Given the description of an element on the screen output the (x, y) to click on. 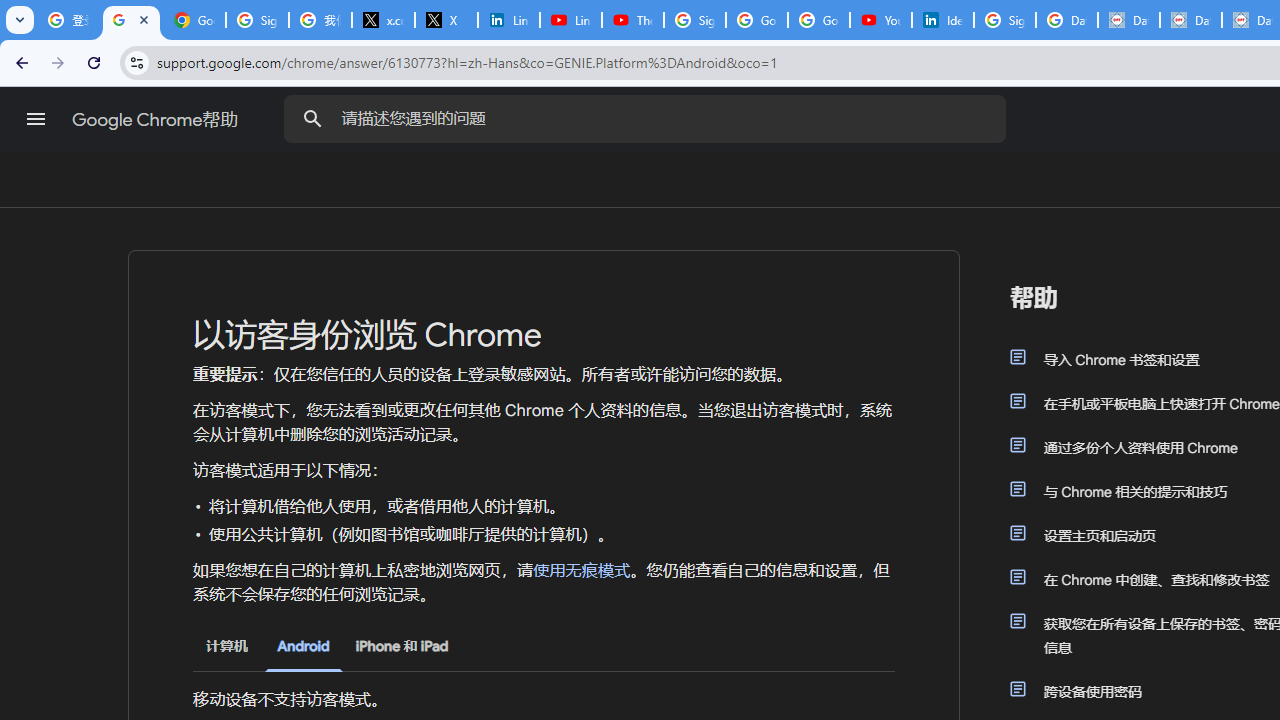
Android (303, 646)
Close (143, 19)
Sign in - Google Accounts (694, 20)
LinkedIn - YouTube (570, 20)
LinkedIn Privacy Policy (508, 20)
Data Privacy Framework (1190, 20)
